Given the description of an element on the screen output the (x, y) to click on. 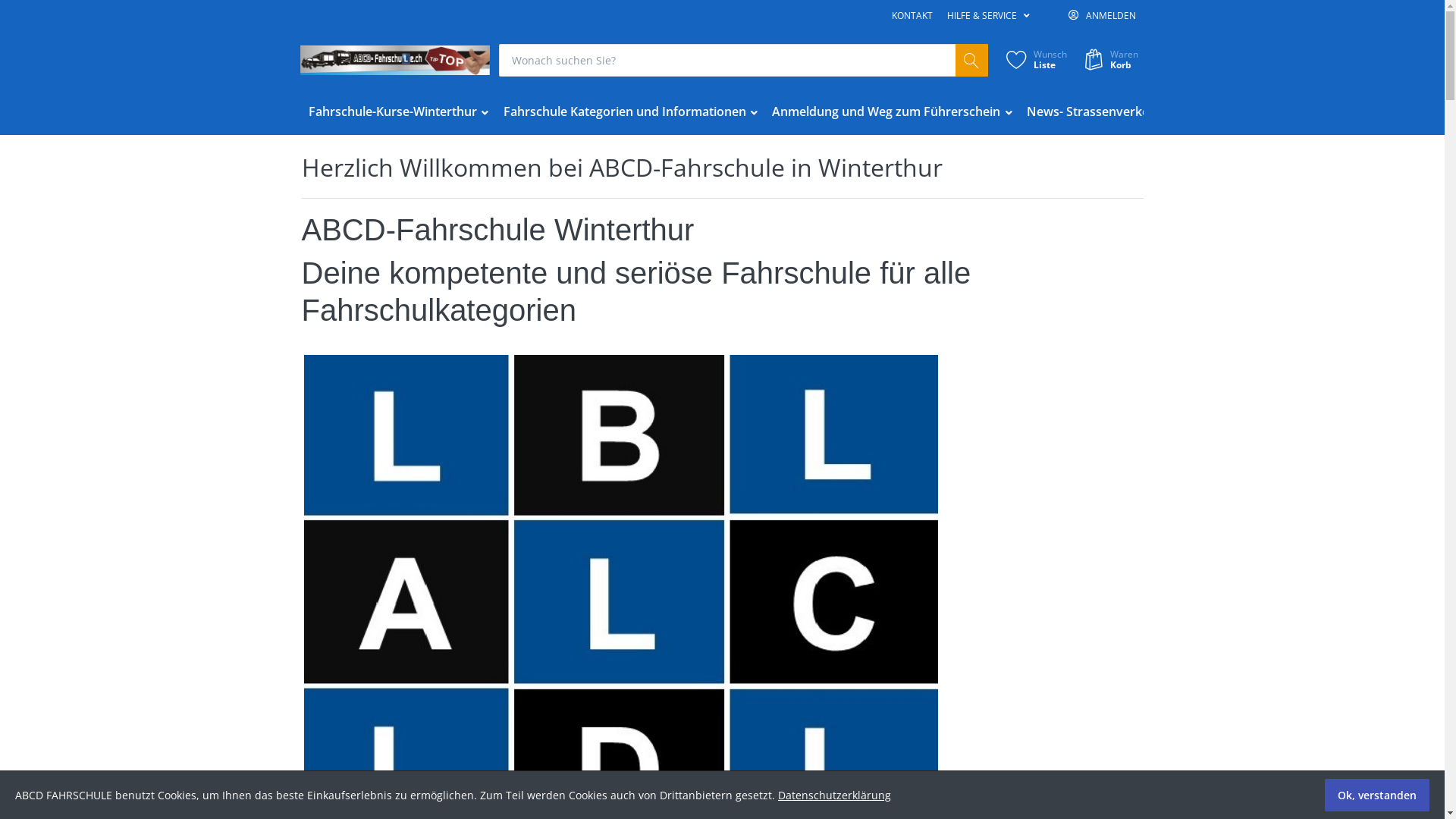
Waren
Korb Element type: text (1109, 59)
KONTAKT Element type: text (911, 15)
Fahrschule Kategorien und Informationen Element type: text (630, 111)
HILFE & SERVICE Element type: text (987, 15)
Ok, verstanden Element type: text (1376, 794)
Suchen Element type: hover (971, 59)
ABCD FAHRSCHULE Element type: hover (394, 60)
Fahrschule-Kurse-Winterthur Element type: text (398, 111)
ANMELDEN Element type: text (1101, 15)
Wunsch
Liste Element type: text (1034, 59)
